Given the description of an element on the screen output the (x, y) to click on. 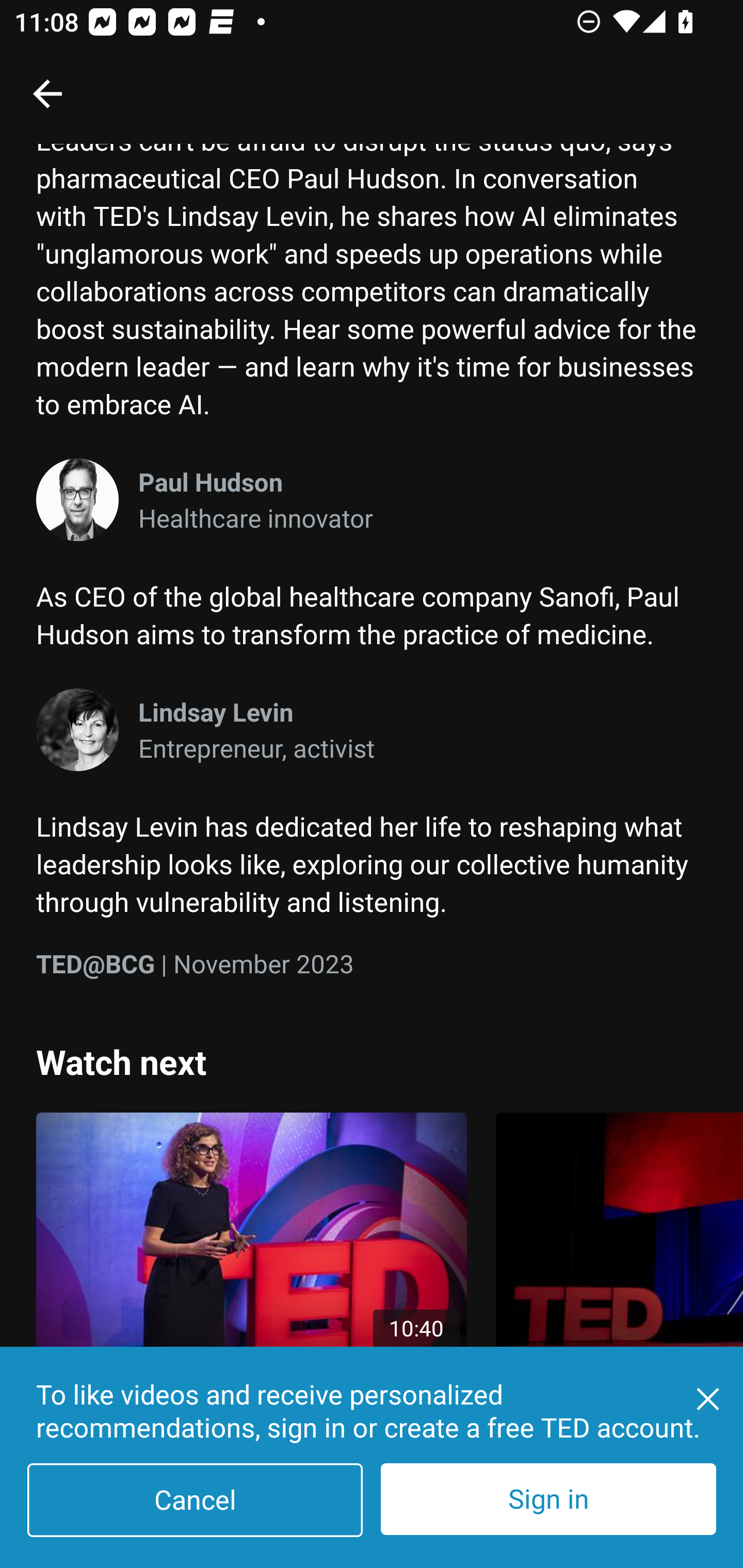
Search, back (47, 92)
The human skills we need in an unpredictable world (619, 1275)
Cancel (194, 1499)
Sign in (548, 1498)
